Given the description of an element on the screen output the (x, y) to click on. 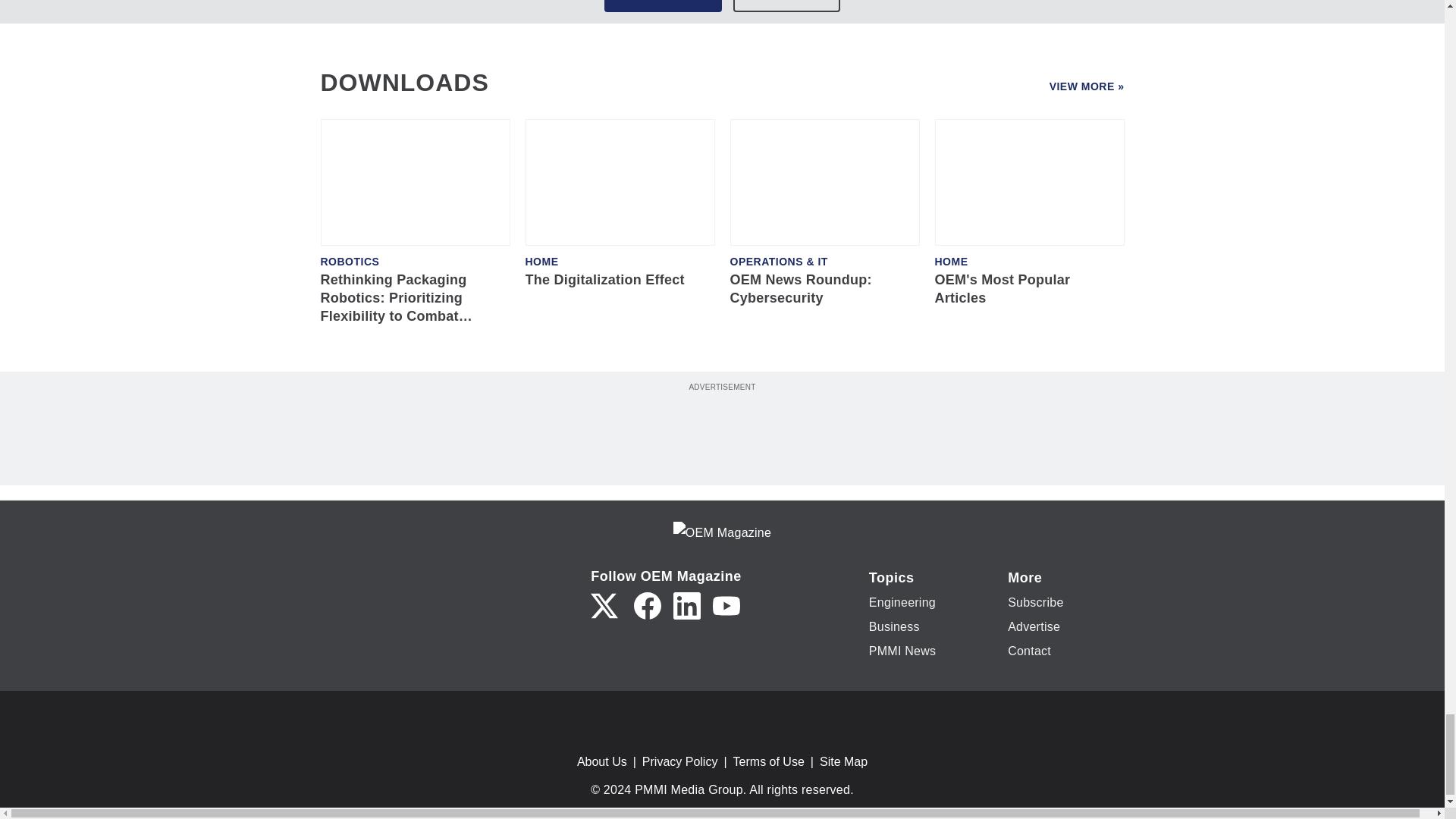
Facebook icon (647, 605)
Twitter X icon (604, 605)
LinkedIn icon (686, 605)
YouTube icon (726, 605)
